Given the description of an element on the screen output the (x, y) to click on. 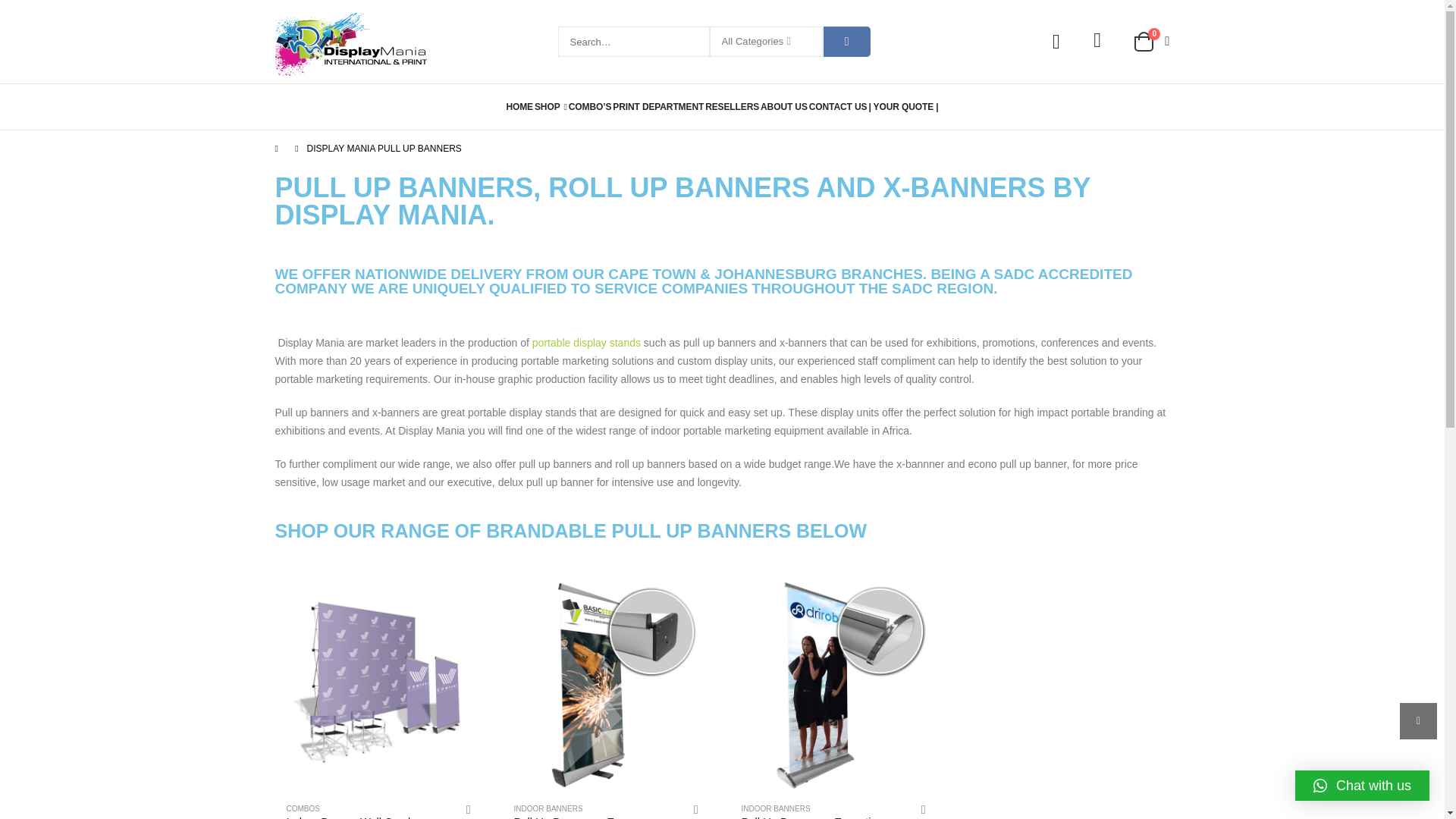
My Account (1055, 41)
Display Mania International - Display Systems Manufacturer (350, 41)
Search (847, 41)
Wishlist (1098, 41)
